Given the description of an element on the screen output the (x, y) to click on. 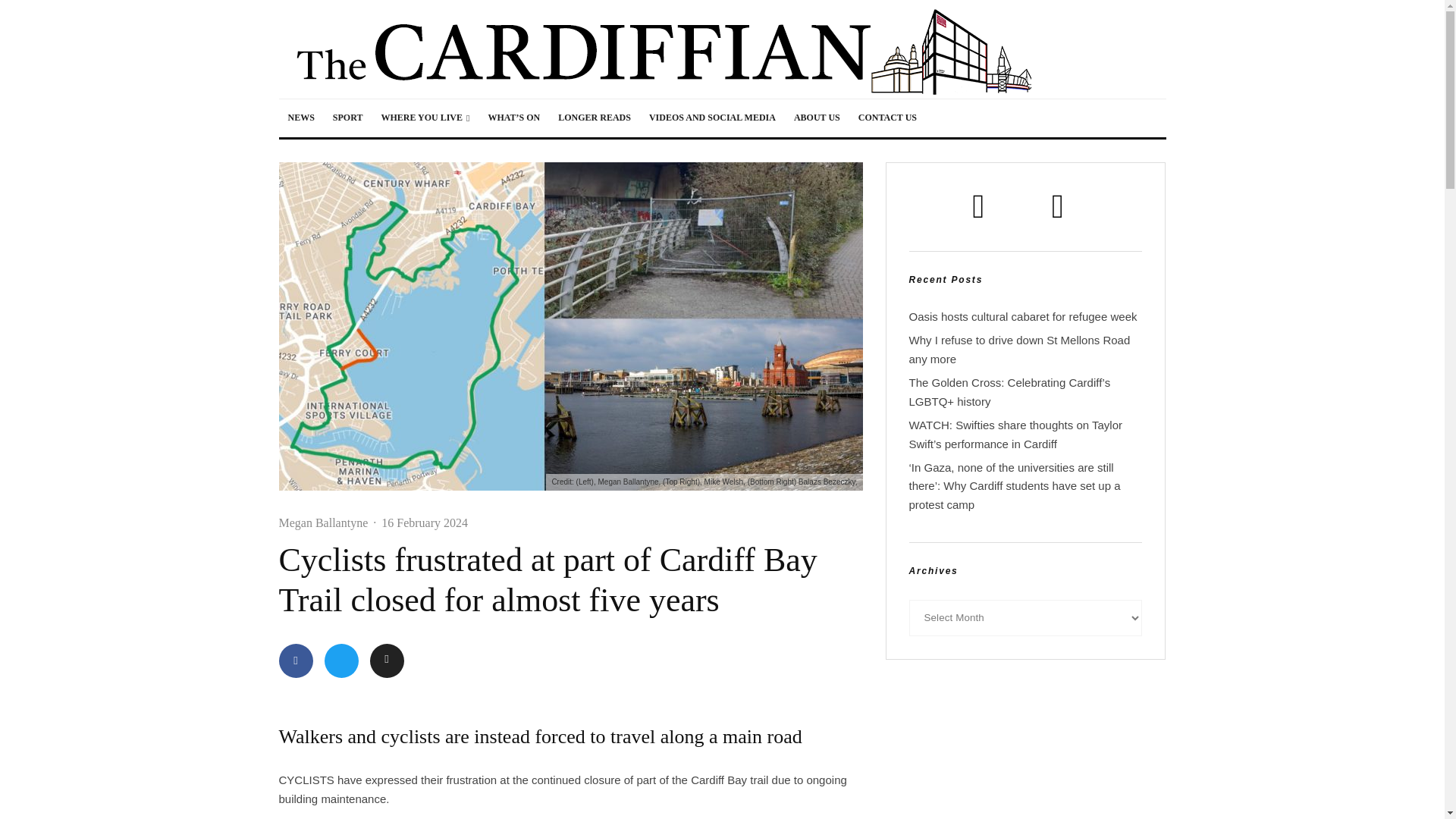
Posts by Megan Ballantyne (323, 522)
SPORT (347, 118)
NEWS (301, 118)
WHERE YOU LIVE (425, 118)
